Given the description of an element on the screen output the (x, y) to click on. 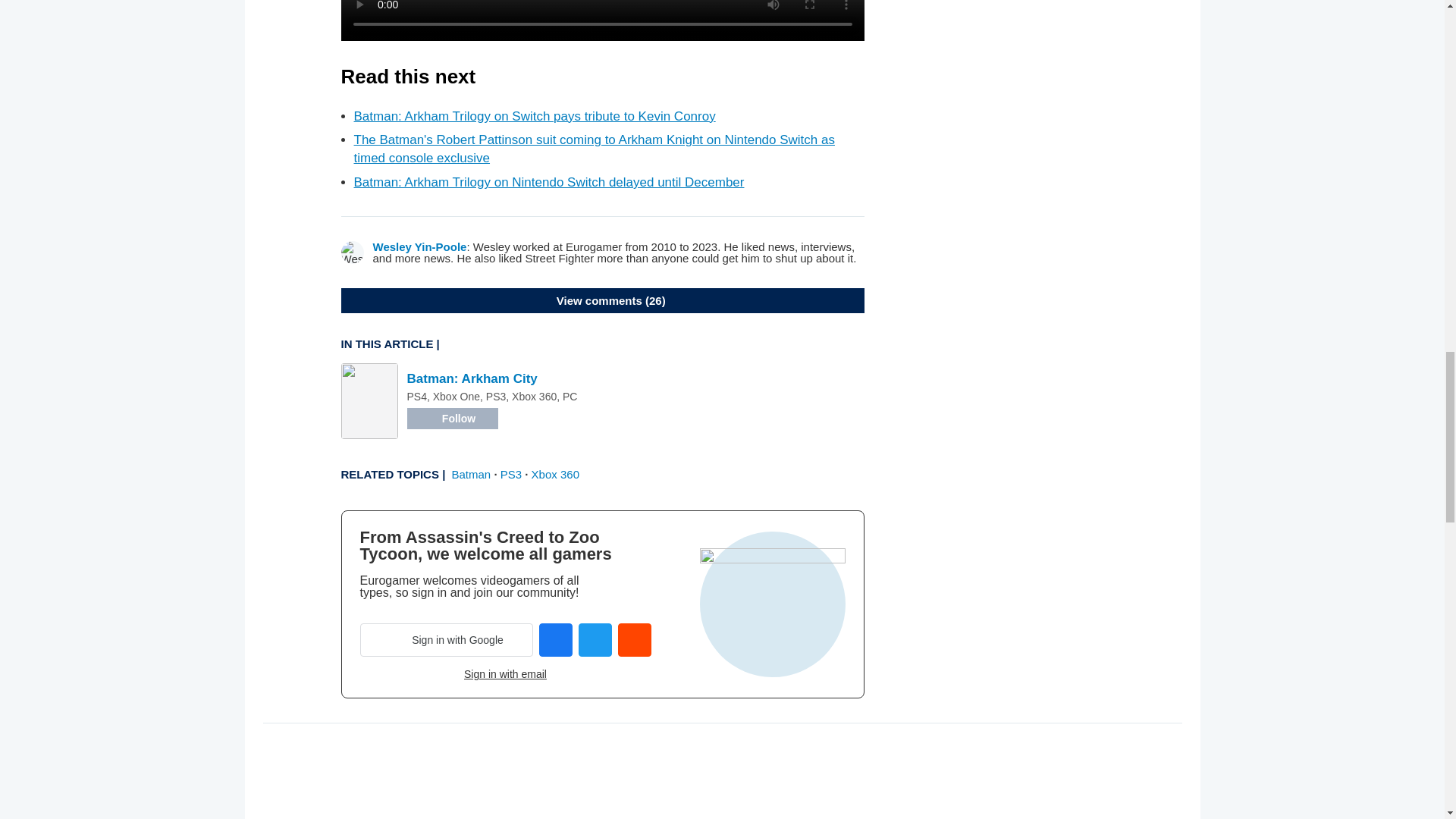
Batman (471, 473)
Wesley Yin-Poole (419, 246)
PS3 (510, 473)
Batman: Arkham City (471, 378)
Follow (451, 418)
